Given the description of an element on the screen output the (x, y) to click on. 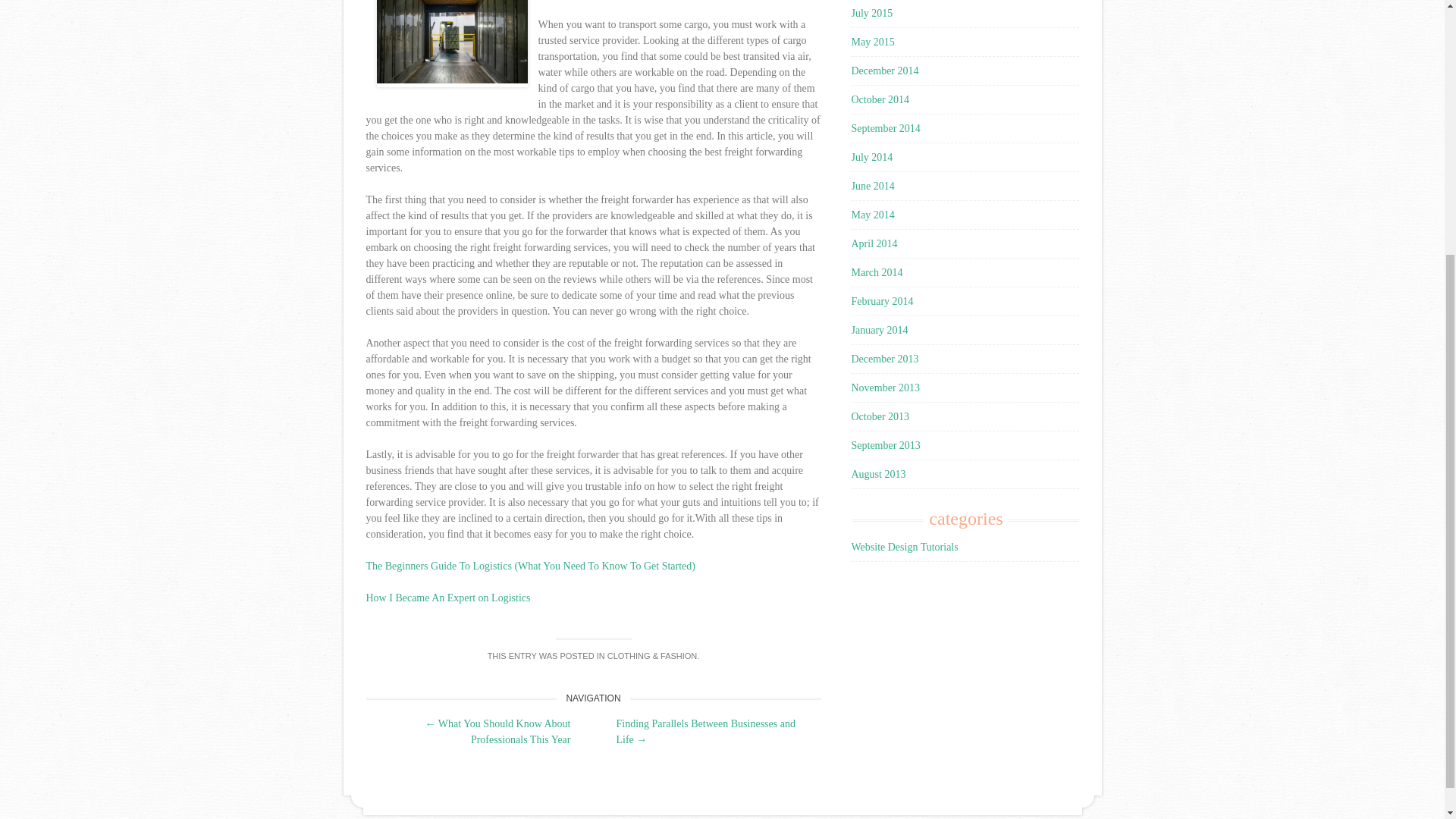
February 2014 (881, 301)
November 2013 (885, 387)
May 2015 (871, 41)
December 2013 (884, 358)
May 2014 (871, 214)
September 2013 (885, 445)
July 2014 (871, 156)
October 2014 (879, 99)
View all posts filed under Website Design Tutorials (904, 546)
How I Became An Expert on Logistics (447, 596)
September 2014 (885, 128)
August 2013 (877, 473)
June 2014 (871, 185)
Website Design Tutorials (904, 546)
January 2014 (878, 329)
